Given the description of an element on the screen output the (x, y) to click on. 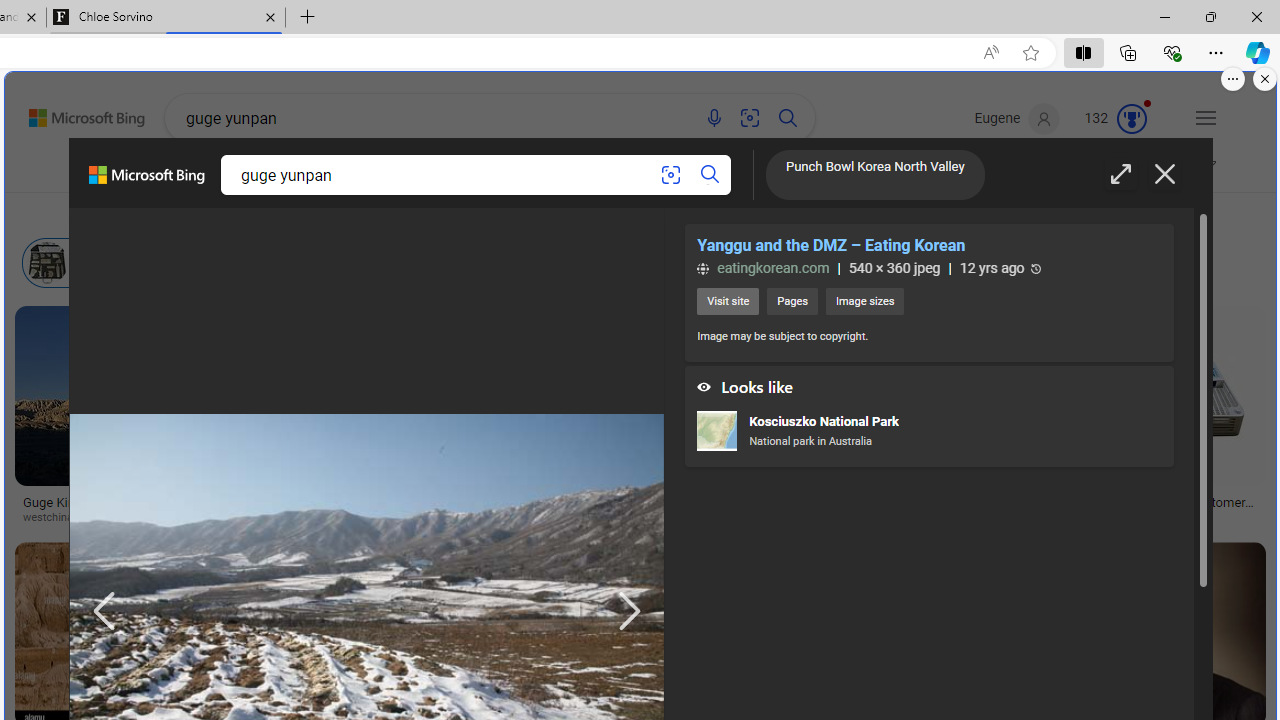
More options. (1233, 79)
People (520, 213)
